Given the description of an element on the screen output the (x, y) to click on. 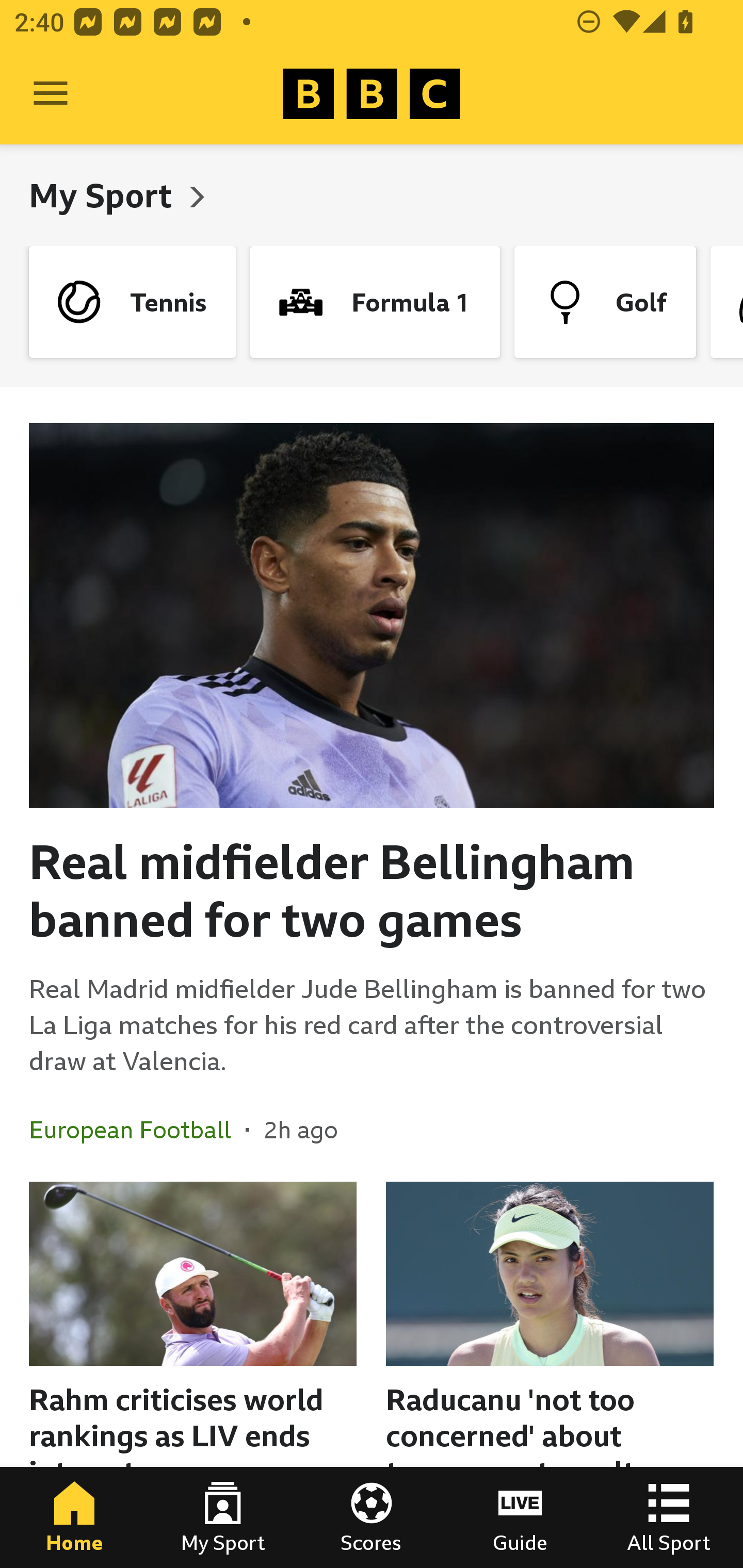
Open Menu (50, 93)
My Sport (104, 195)
European Football In the section European Football (136, 1129)
My Sport (222, 1517)
Scores (371, 1517)
Guide (519, 1517)
All Sport (668, 1517)
